Given the description of an element on the screen output the (x, y) to click on. 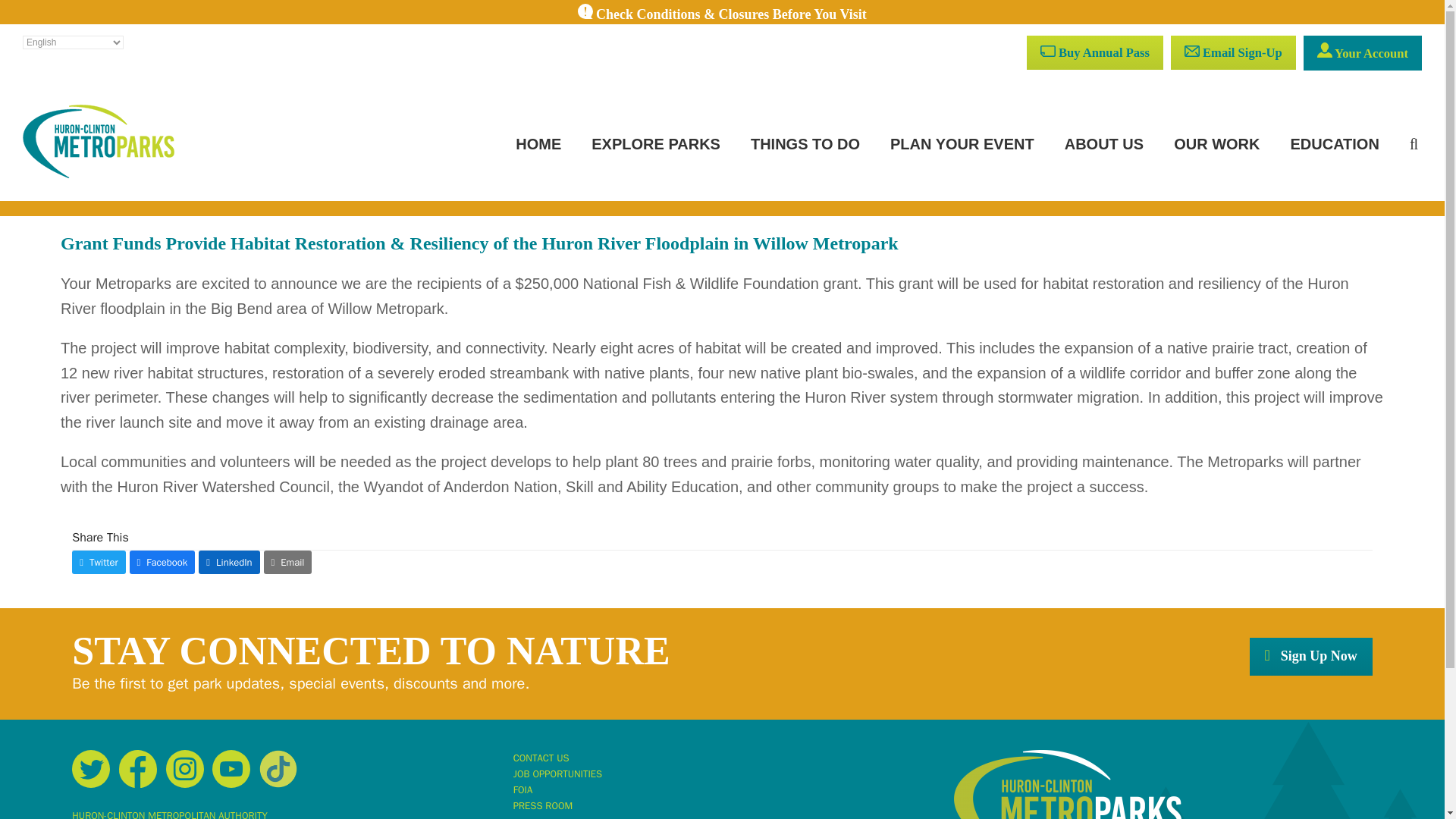
Email Sign-Up (1232, 52)
Buy Annual Pass (1094, 52)
Your Account (1362, 53)
HOME (538, 143)
